Given the description of an element on the screen output the (x, y) to click on. 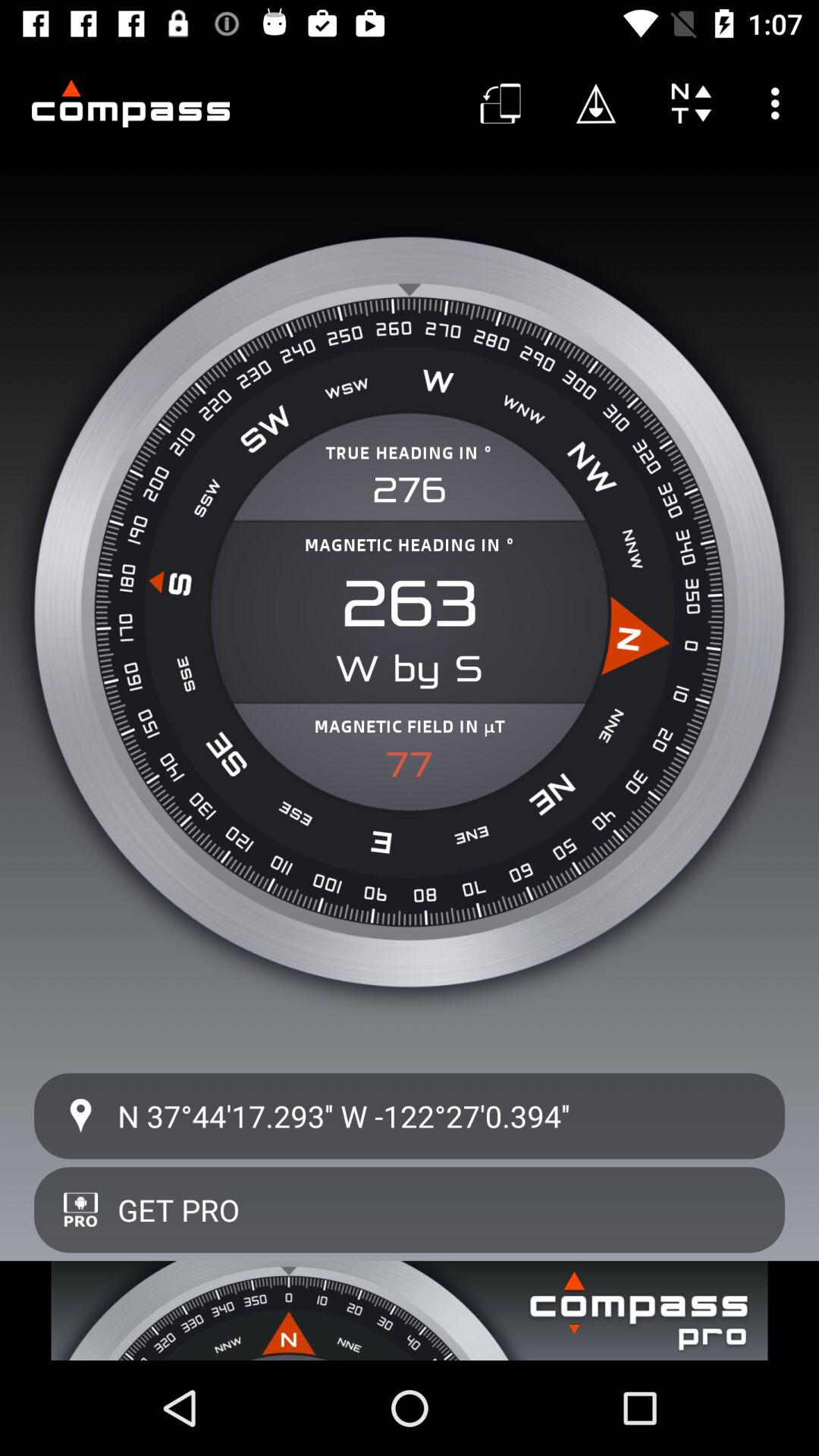
go to compass pro (409, 1310)
